Given the description of an element on the screen output the (x, y) to click on. 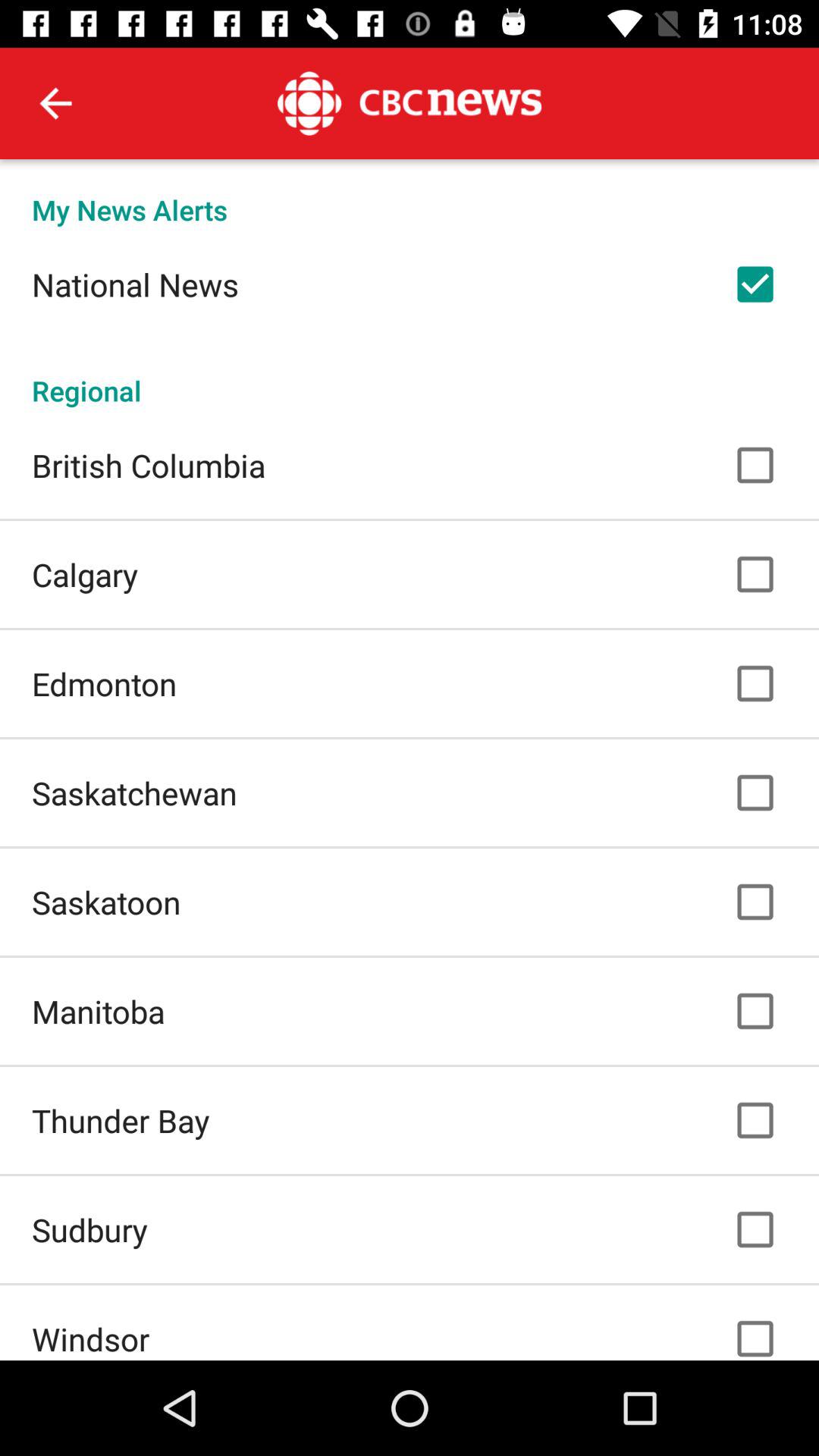
launch item below thunder bay (89, 1229)
